Given the description of an element on the screen output the (x, y) to click on. 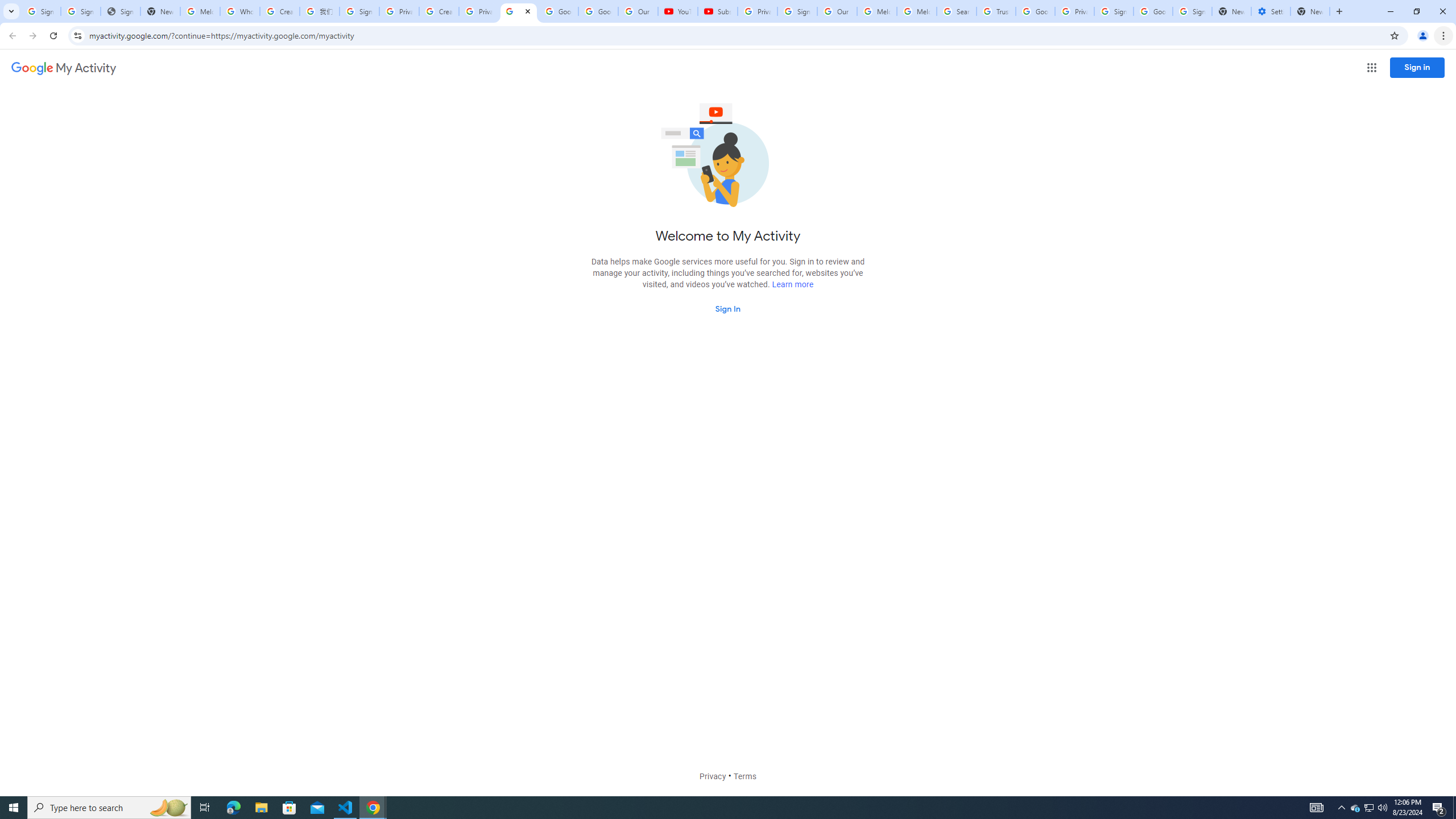
Subscriptions - YouTube (717, 11)
Sign In (727, 308)
